Given the description of an element on the screen output the (x, y) to click on. 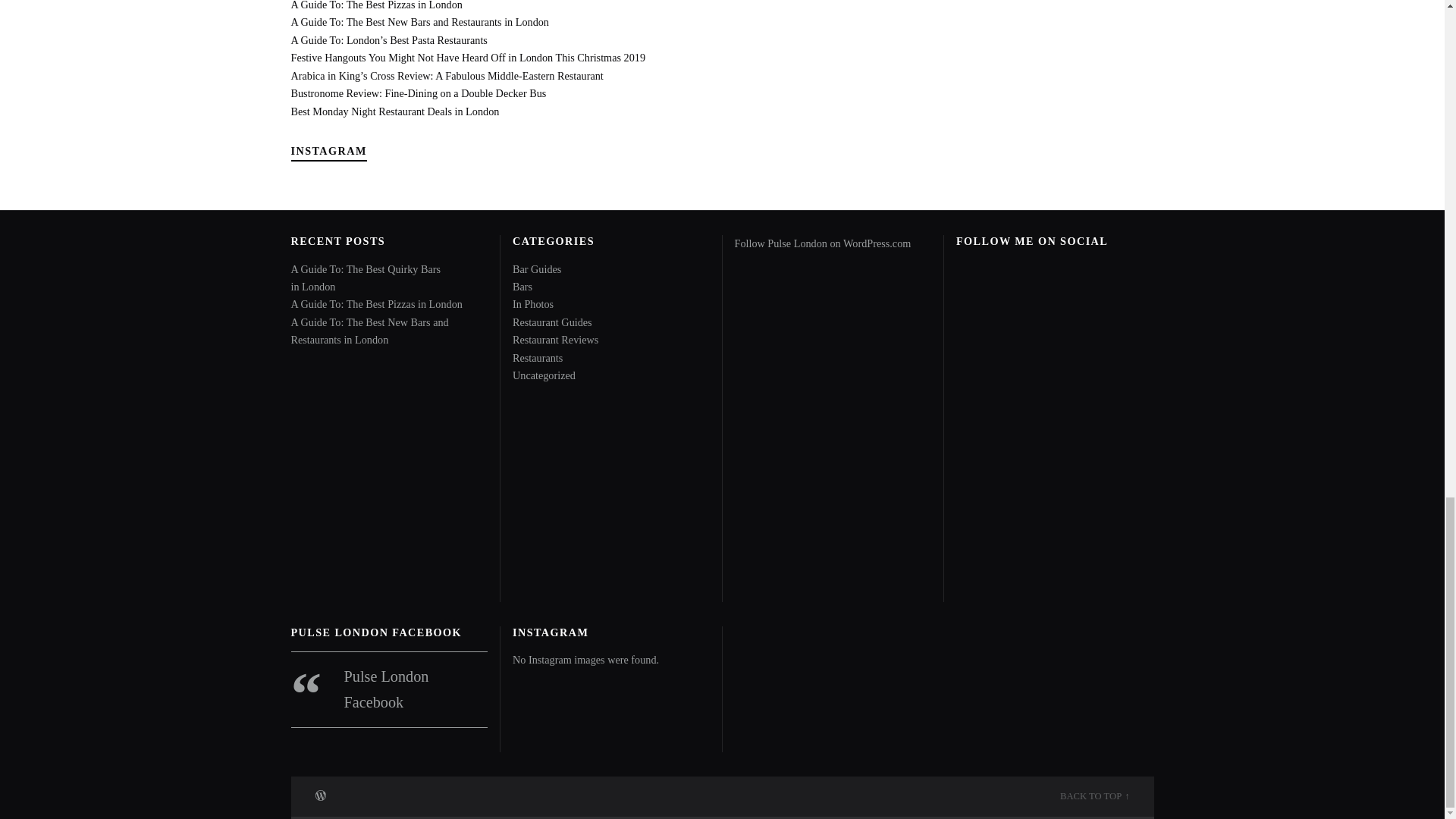
Reviews and opinions on London's top restaurants. (555, 339)
